Given the description of an element on the screen output the (x, y) to click on. 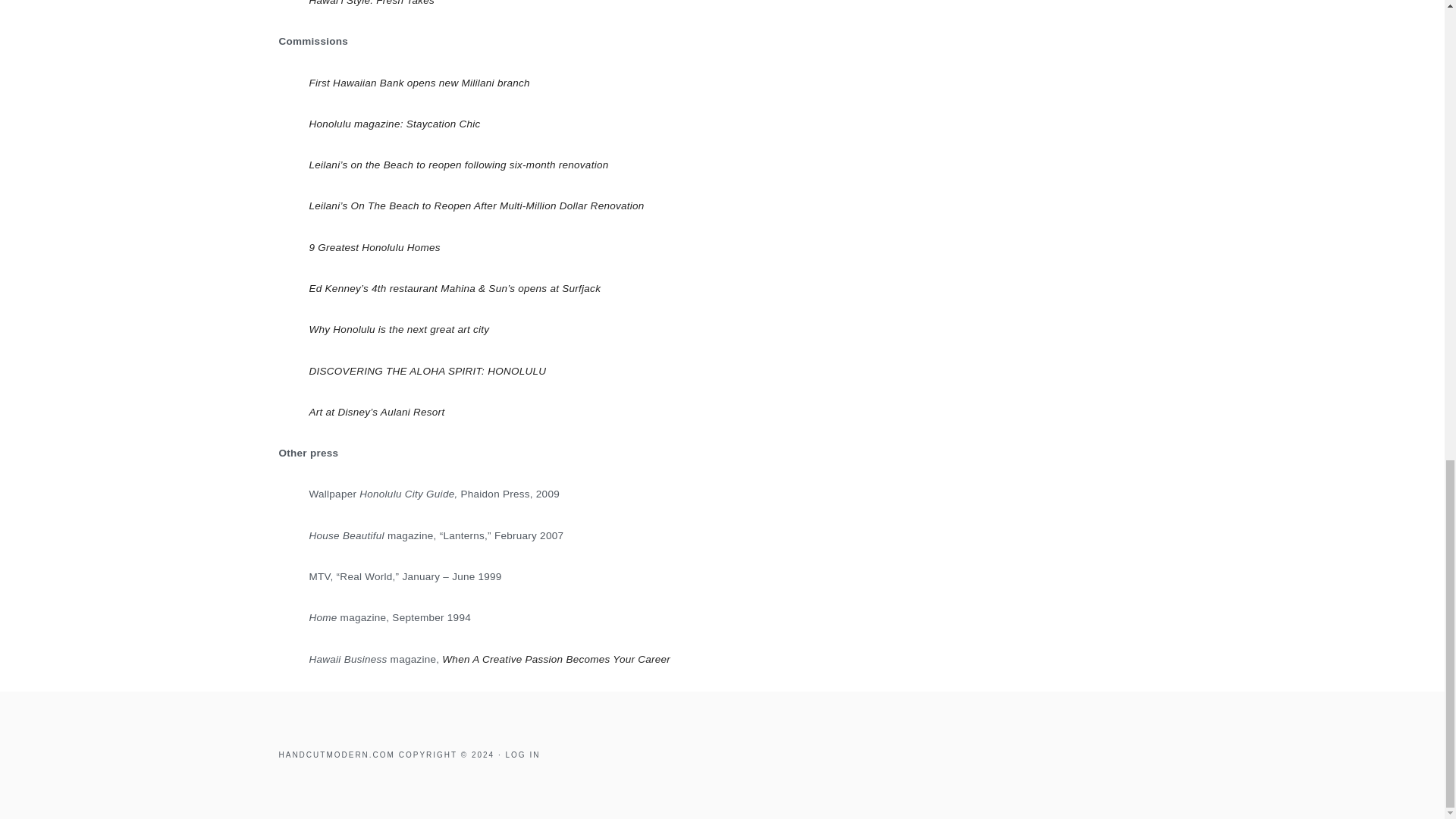
Honolulu magazine: Staycation Chic (394, 123)
9 Greatest Honolulu Homes (374, 247)
DISCOVERING THE ALOHA SPIRIT: HONOLULU (427, 370)
LOG IN (522, 755)
First Hawaiian Bank opens new Mililani branch  (420, 82)
When A Creative Passion Becomes Your Career (555, 659)
Why Honolulu is the next great art city (398, 328)
